Given the description of an element on the screen output the (x, y) to click on. 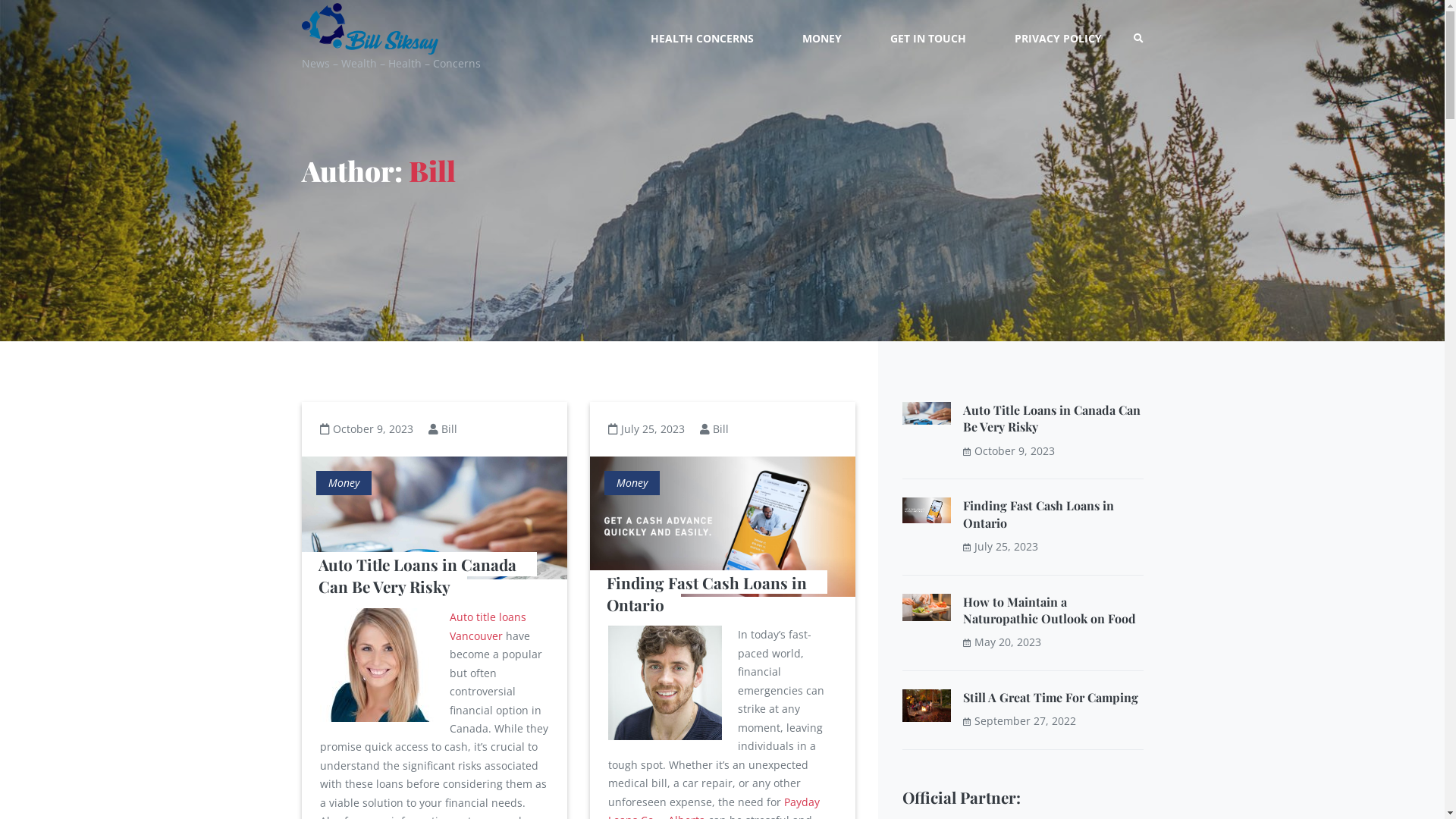
Money Element type: text (343, 482)
HEALTH CONCERNS Element type: text (702, 37)
PRIVACY POLICY Element type: text (1058, 37)
Auto title loans Vancouver Element type: text (487, 625)
How to Maintain a Naturopathic Outlook on Food Element type: text (1049, 609)
GET IN TOUCH Element type: text (928, 37)
Search Element type: text (22, 38)
Auto Title Loans in Canada Can Be Very Risky Element type: text (419, 574)
MONEY Element type: text (822, 37)
Finding Fast Cash Loans in Ontario Element type: text (1038, 513)
Auto Title Loans in Canada Can Be Very Risky Element type: text (1051, 417)
Finding Fast Cash Loans in Ontario Element type: text (708, 592)
Still A Great Time For Camping Element type: text (1050, 697)
Money Element type: text (631, 482)
